Given the description of an element on the screen output the (x, y) to click on. 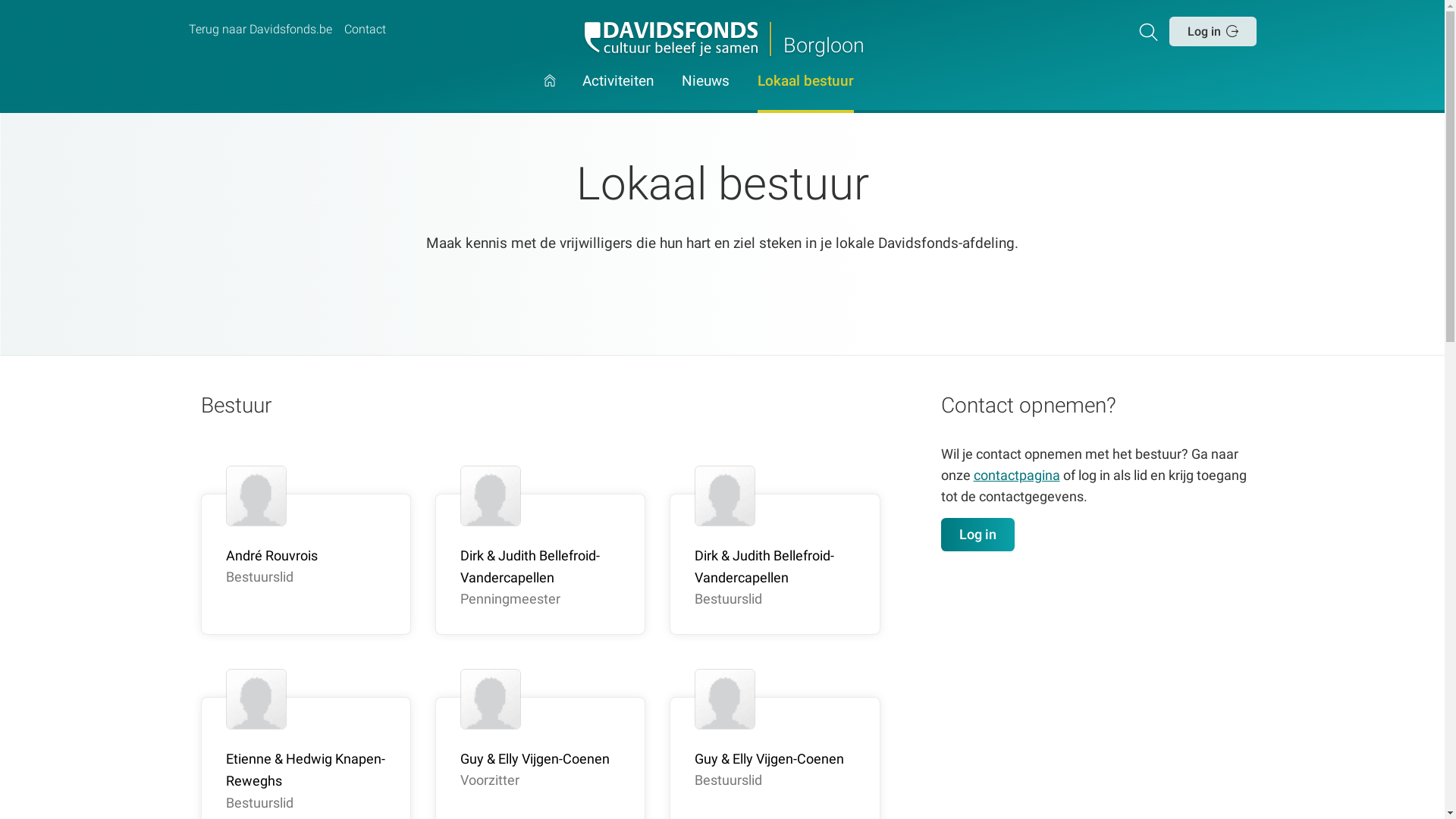
Contact Element type: text (364, 30)
Nieuws Element type: text (705, 93)
Terug naar Davidsfonds.be Element type: text (259, 30)
Lokaal bestuur Element type: text (805, 93)
Borgloon Element type: text (721, 38)
Hoofdpagina Element type: text (549, 93)
Log in Element type: text (977, 534)
Zoeken Element type: text (1150, 31)
contactpagina Element type: text (1016, 475)
Log in Element type: text (1212, 30)
Activiteiten Element type: text (617, 93)
